Given the description of an element on the screen output the (x, y) to click on. 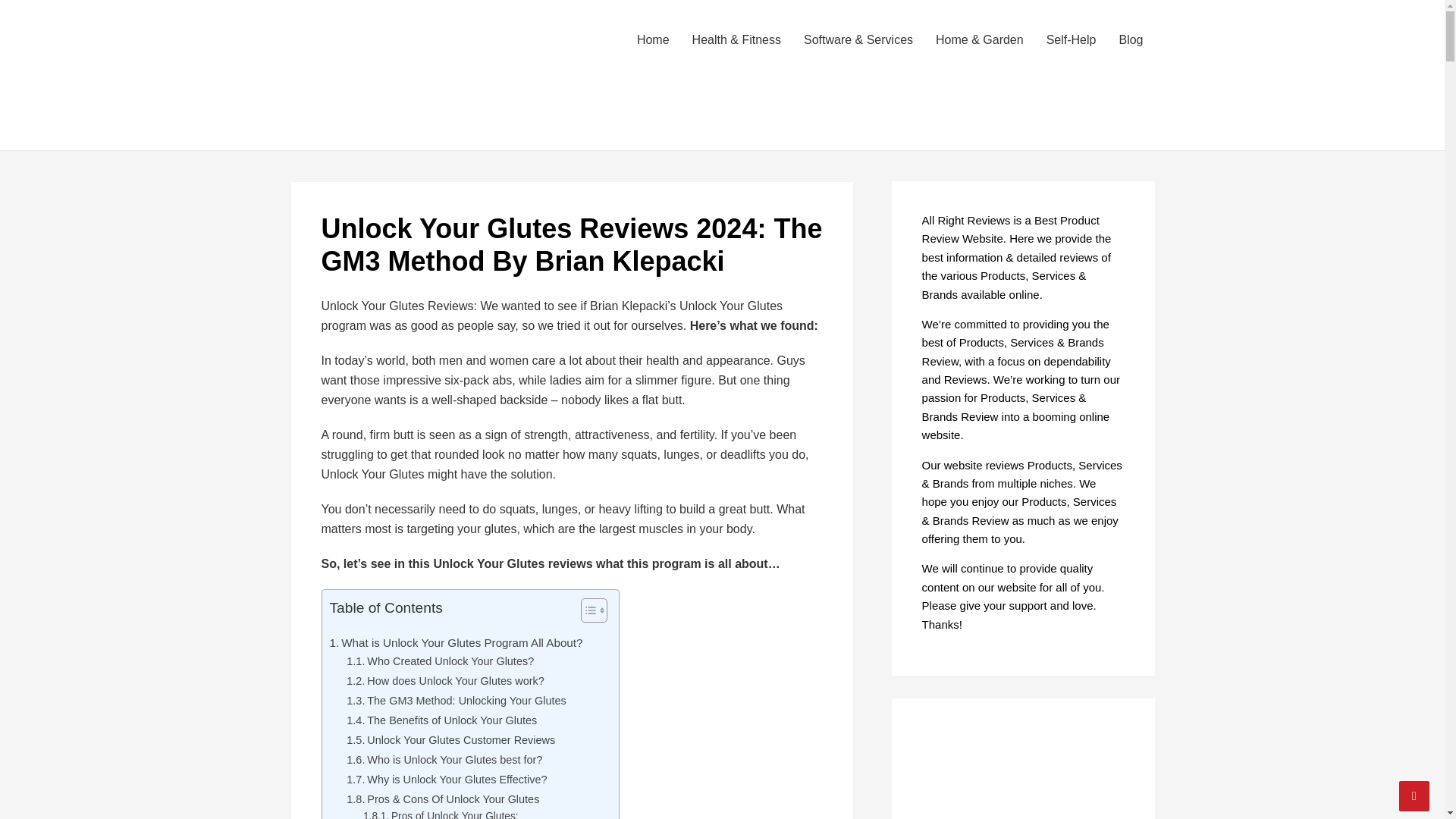
The GM3 Method: Unlocking Your Glutes (456, 701)
How does Unlock Your Glutes work? (445, 681)
What is Unlock Your Glutes Program All About? (455, 642)
Self-Help (1071, 39)
Why is Unlock Your Glutes Effective? (446, 779)
How does Unlock Your Glutes work? (445, 681)
Why is Unlock Your Glutes Effective? (446, 779)
Blog (1130, 39)
The GM3 Method: Unlocking Your Glutes (456, 701)
Who is Unlock Your Glutes best for? (443, 760)
Who Created Unlock Your Glutes? (440, 661)
Unlock Your Glutes Customer Reviews (450, 740)
Unlock Your Glutes Customer Reviews (450, 740)
Pros of Unlock Your Glutes: (440, 813)
Home (653, 39)
